Given the description of an element on the screen output the (x, y) to click on. 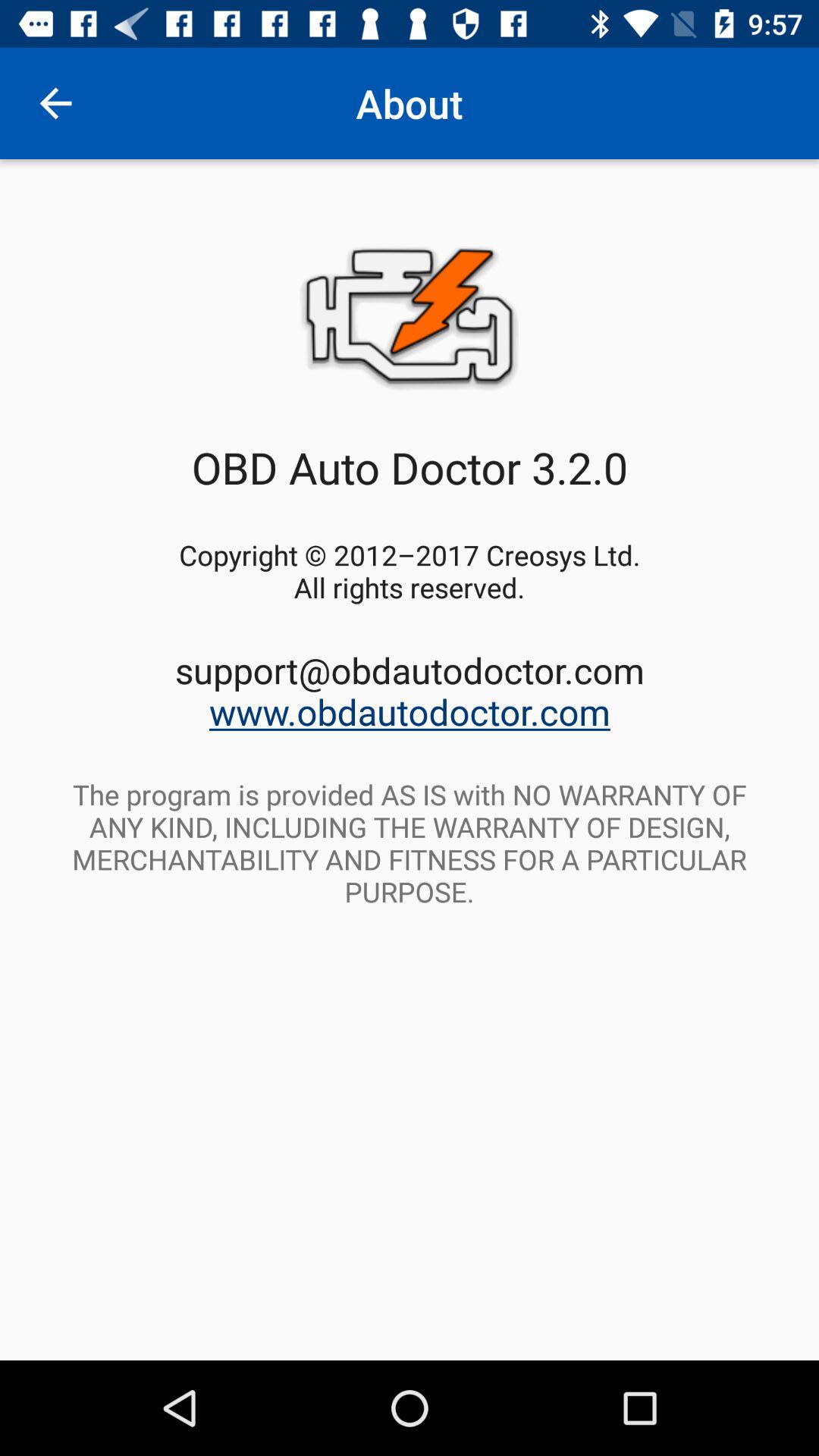
launch the item to the left of about icon (55, 103)
